Given the description of an element on the screen output the (x, y) to click on. 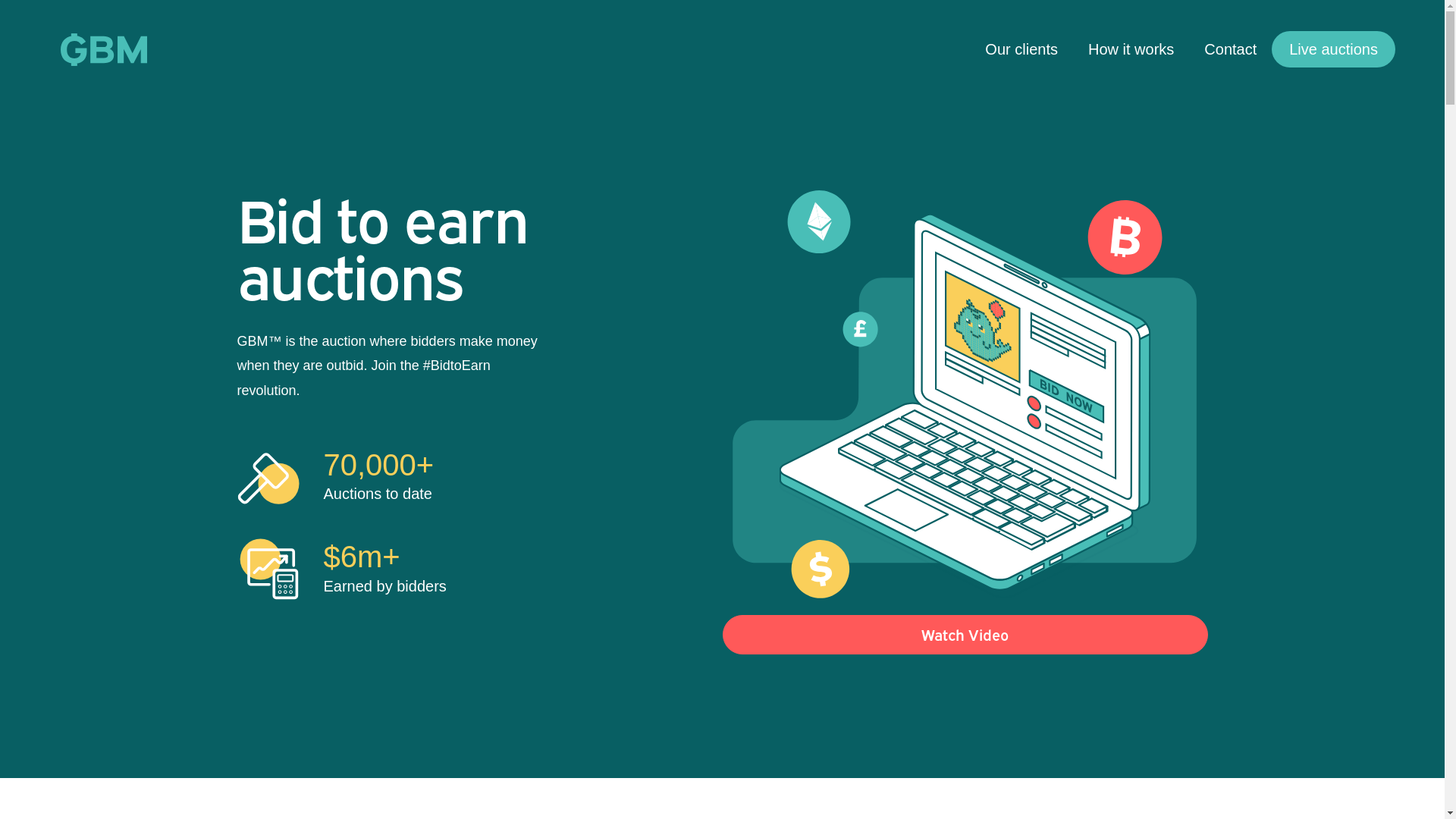
Live auctions Element type: text (1333, 49)
Contact Element type: text (1230, 48)
Our clients Element type: text (1021, 48)
How it works Element type: text (1131, 48)
Watch Video Element type: text (964, 634)
